Given the description of an element on the screen output the (x, y) to click on. 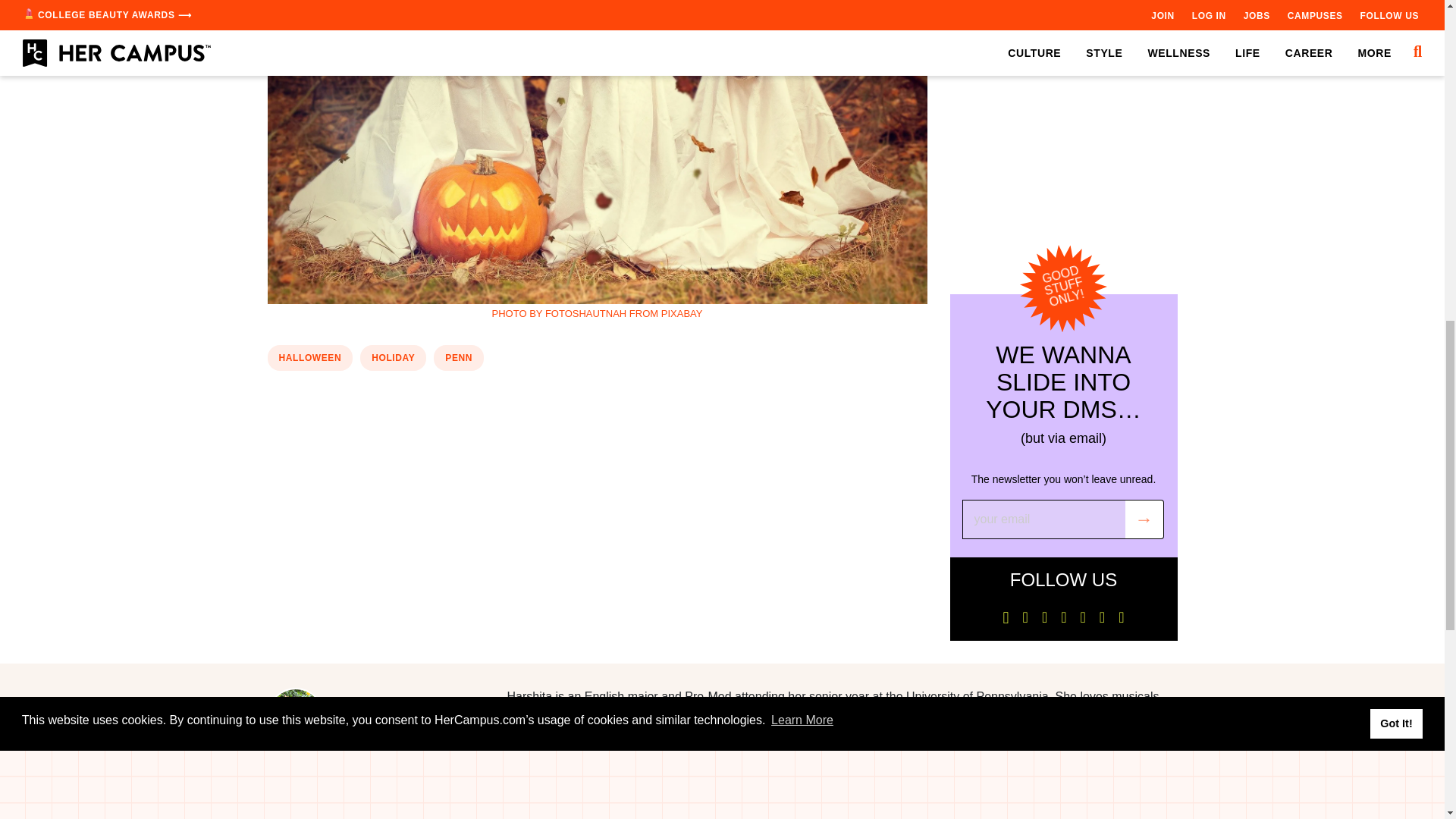
3rd party ad content (597, 426)
3rd party ad content (1062, 105)
